Given the description of an element on the screen output the (x, y) to click on. 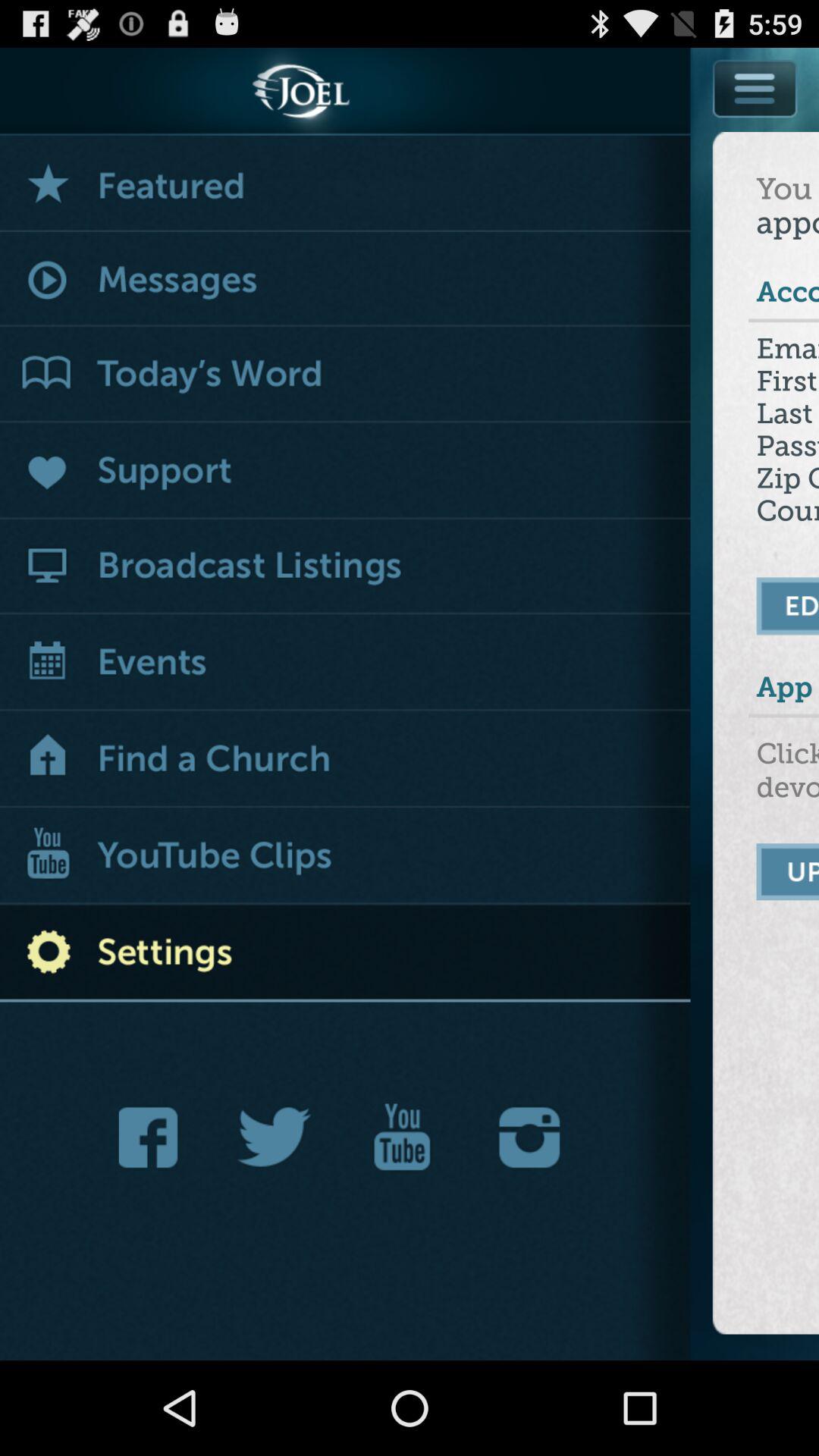
edit your settings (788, 606)
